Given the description of an element on the screen output the (x, y) to click on. 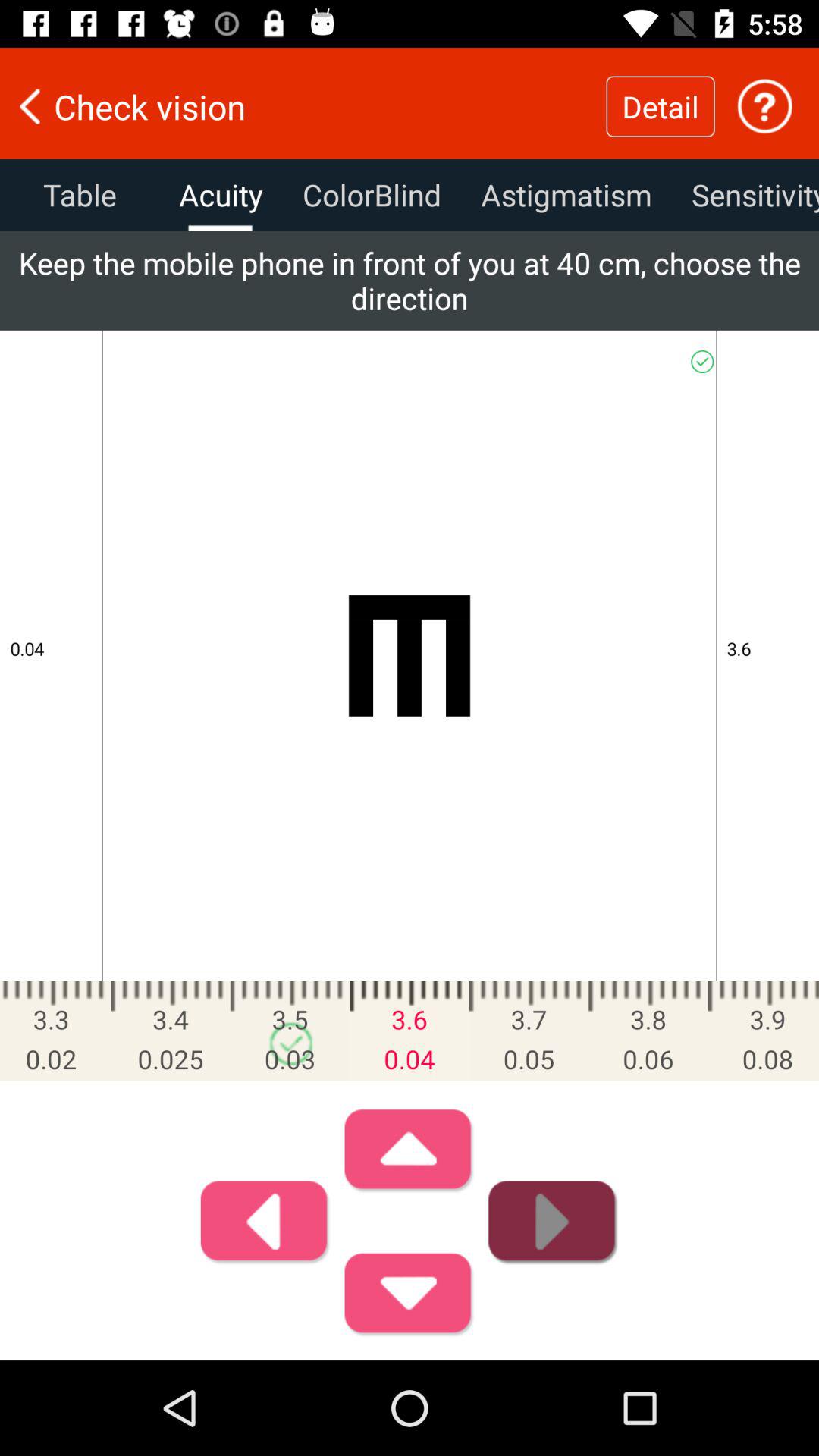
toggle help menu (764, 106)
